Given the description of an element on the screen output the (x, y) to click on. 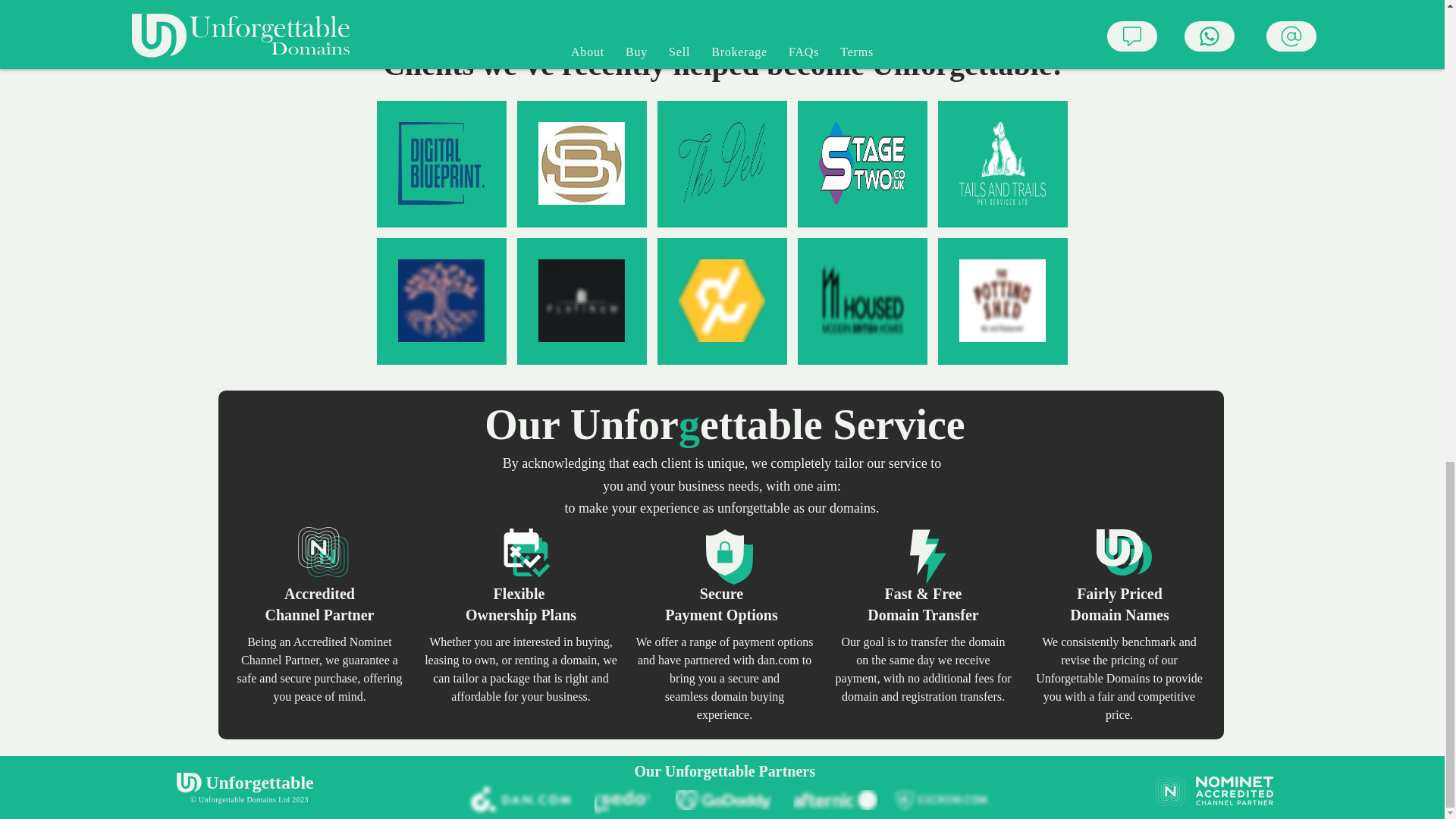
Sedo.com (622, 799)
DesignHive.co.uk (721, 300)
COL.co.uk (440, 300)
Housed.co.uk (719, 2)
Housed.co.uk (861, 300)
TailsandTrails.co.uk (1002, 163)
StageTwo.co.uk (861, 163)
DigitalBlueprint.co.uk (440, 163)
ThePottingShed.co.uk (1002, 300)
TheDeli.co.uk (721, 163)
Unforgettable (259, 782)
GoDaddy.com (723, 799)
Escrow.com (943, 799)
PlatinumConstructin.co.uk (581, 300)
afternic.com (835, 799)
